Given the description of an element on the screen output the (x, y) to click on. 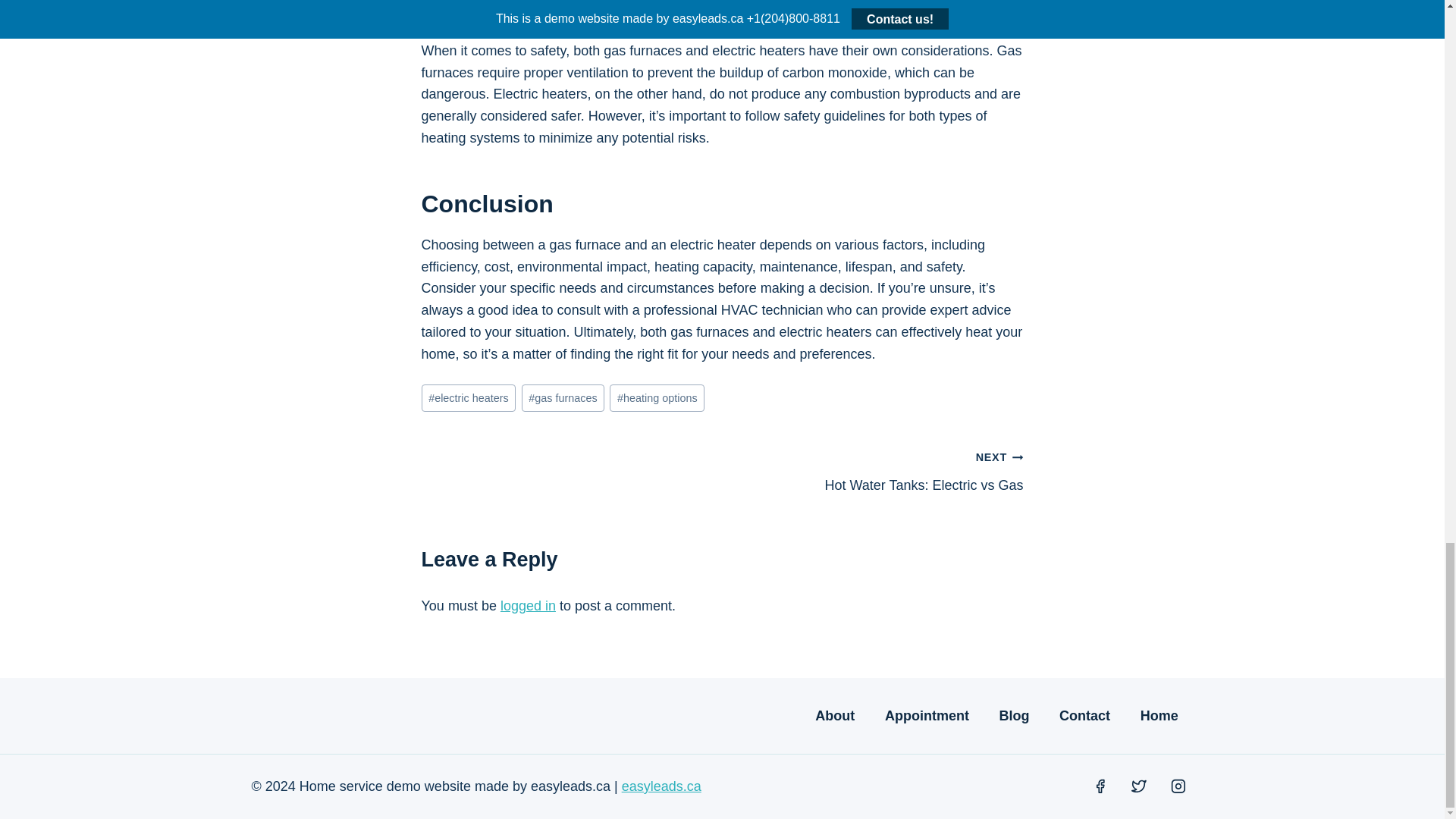
Appointment (926, 716)
Home (1159, 716)
heating options (872, 470)
Blog (657, 398)
gas furnaces (1014, 716)
easyleads.ca (563, 398)
electric heaters (661, 785)
logged in (469, 398)
Contact (528, 605)
